Given the description of an element on the screen output the (x, y) to click on. 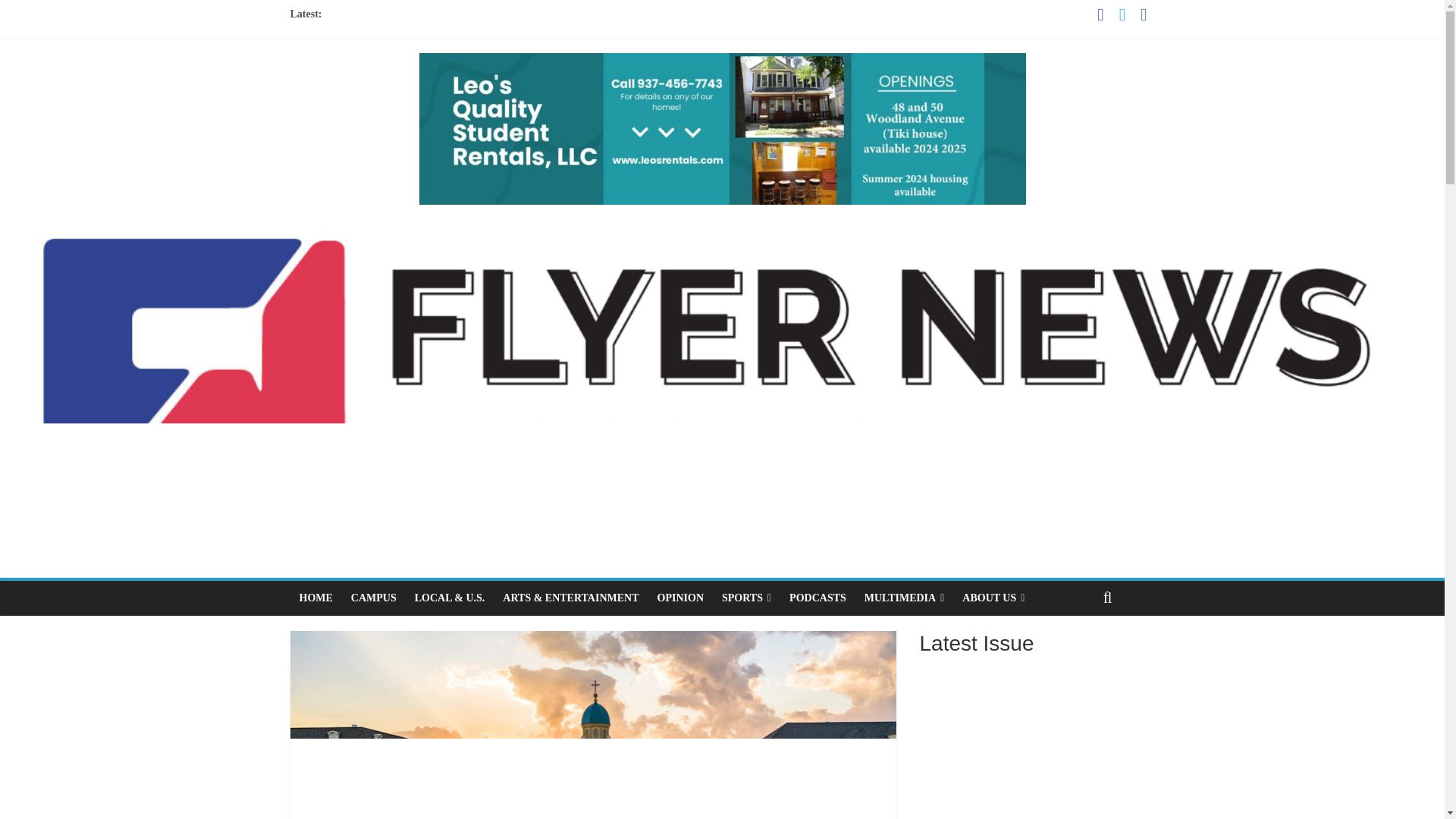
ABOUT US (993, 597)
SPORTS (746, 597)
HOME (314, 597)
PODCASTS (818, 597)
OPINION (680, 597)
MULTIMEDIA (904, 597)
CAMPUS (374, 597)
